Given the description of an element on the screen output the (x, y) to click on. 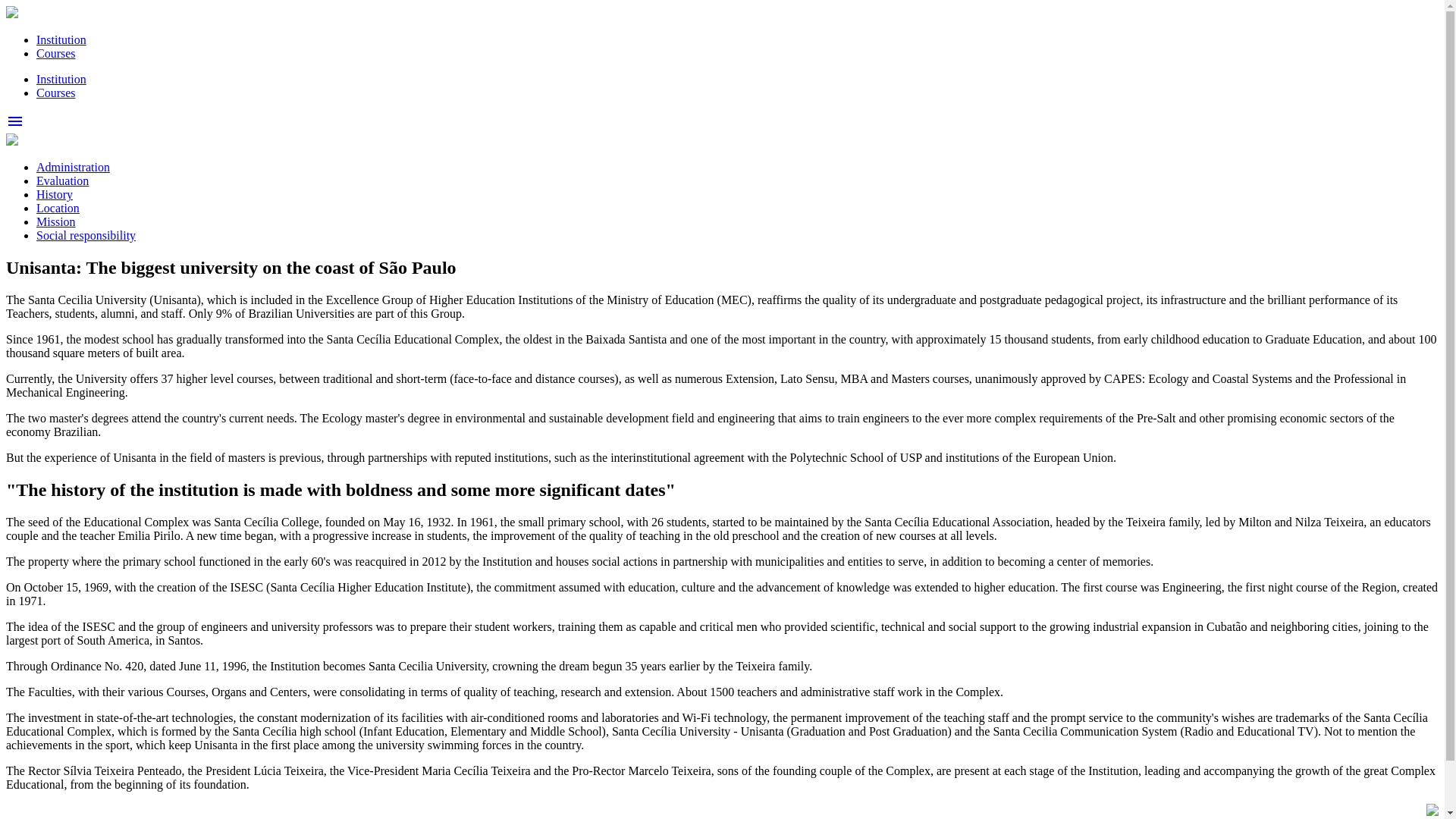
Institution Element type: text (61, 78)
Courses Element type: text (55, 53)
Administration Element type: text (72, 166)
menu Element type: text (15, 125)
Social responsibility Element type: text (85, 235)
Mission Element type: text (55, 221)
Evaluation Element type: text (62, 180)
Courses Element type: text (55, 92)
History Element type: text (54, 194)
Location Element type: text (57, 207)
Institution Element type: text (61, 39)
